Given the description of an element on the screen output the (x, y) to click on. 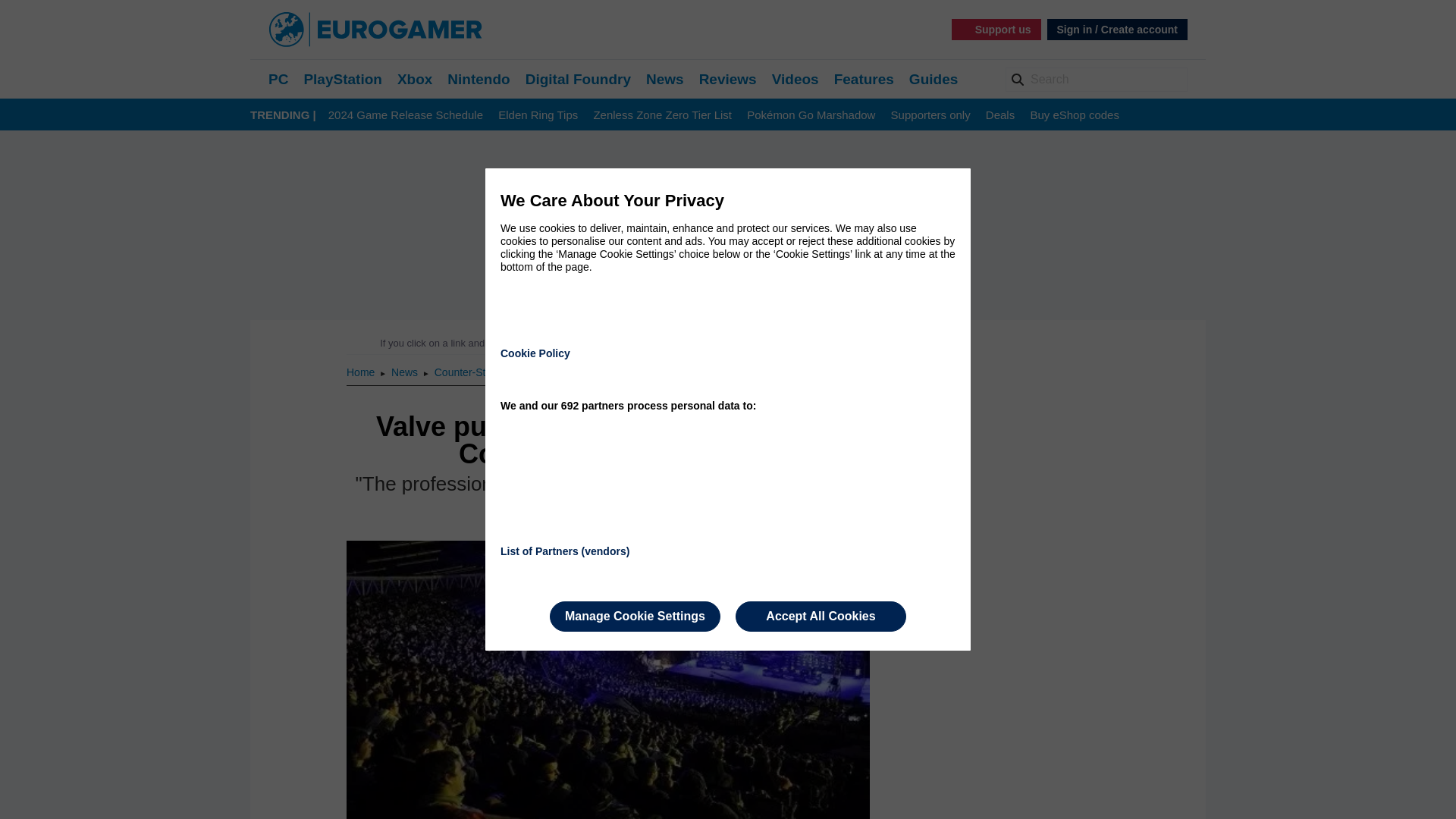
Guides (933, 78)
Deals (999, 114)
Reviews (727, 78)
Features (863, 78)
Supporters only (931, 114)
News (665, 78)
Elden Ring Tips (537, 114)
PlayStation (341, 78)
Guides (933, 78)
Supporters only (931, 114)
Nintendo (477, 78)
Deals (999, 114)
Nintendo (477, 78)
PC (277, 78)
Buy eShop codes (1074, 114)
